Given the description of an element on the screen output the (x, y) to click on. 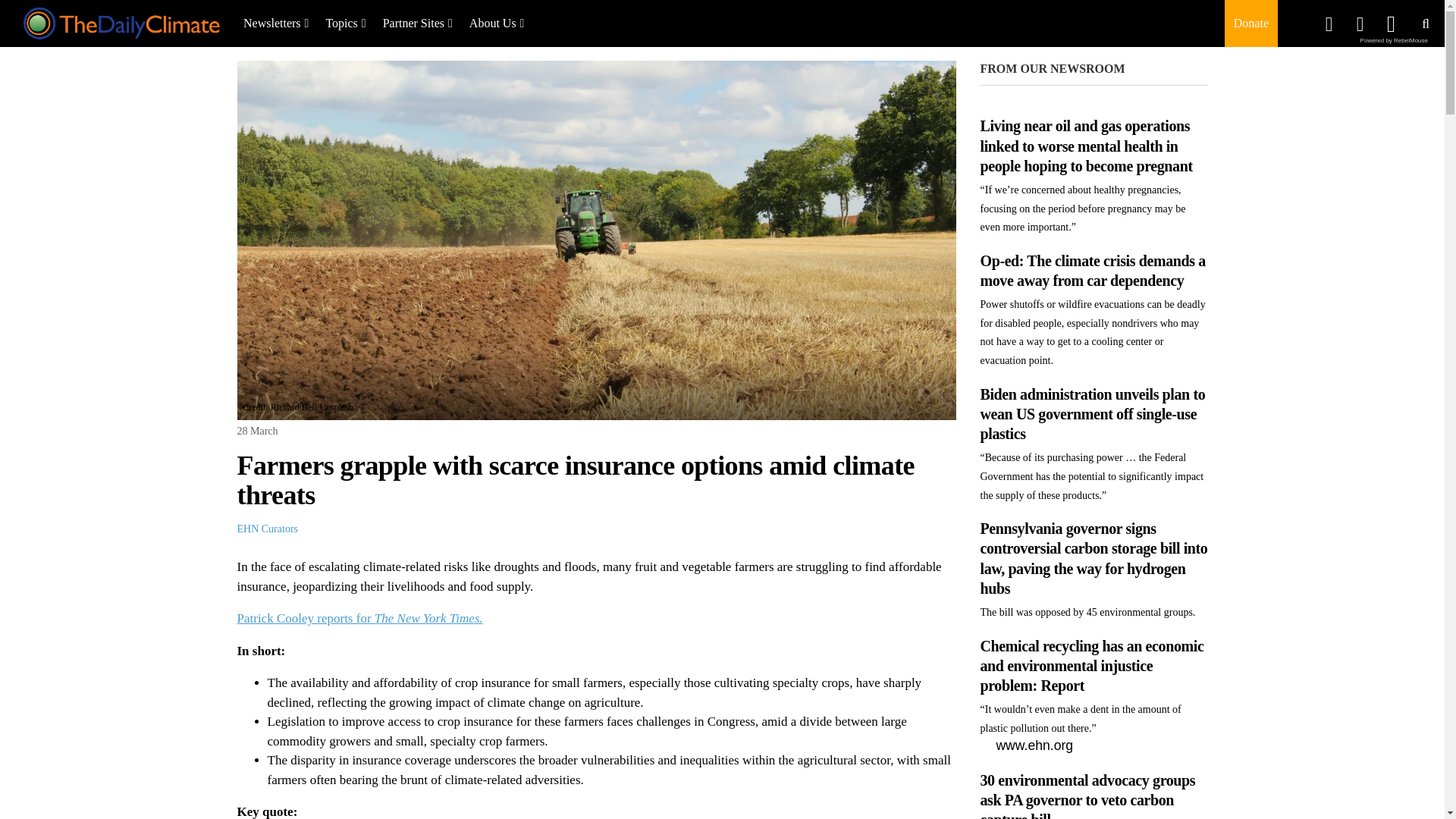
Best CMS (1393, 40)
Donate (1250, 22)
